Given the description of an element on the screen output the (x, y) to click on. 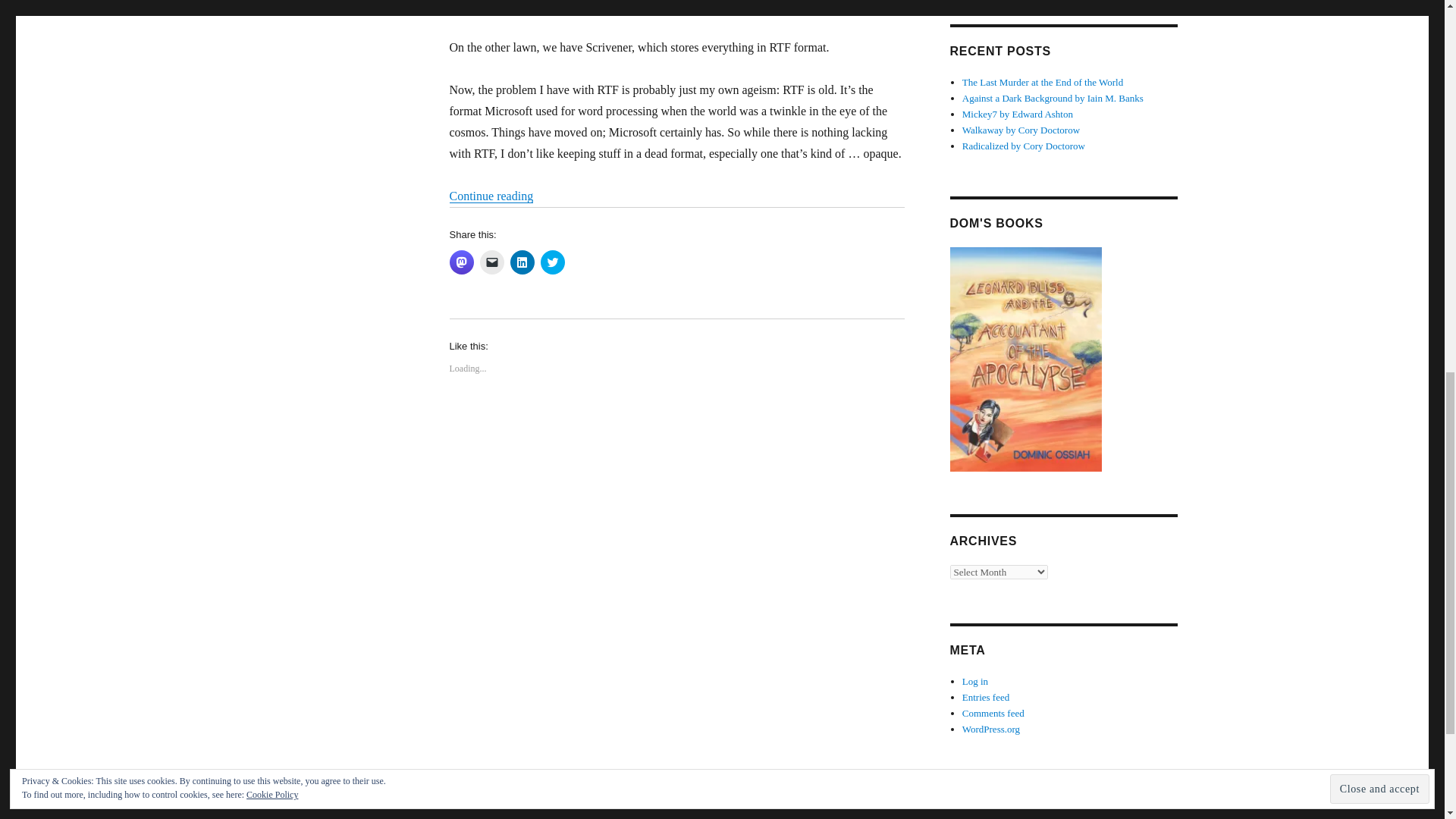
Click to share on LinkedIn (521, 262)
Click to share on Mastodon (460, 262)
Click to email a link to a friend (491, 262)
Click to share on Twitter (552, 262)
